Given the description of an element on the screen output the (x, y) to click on. 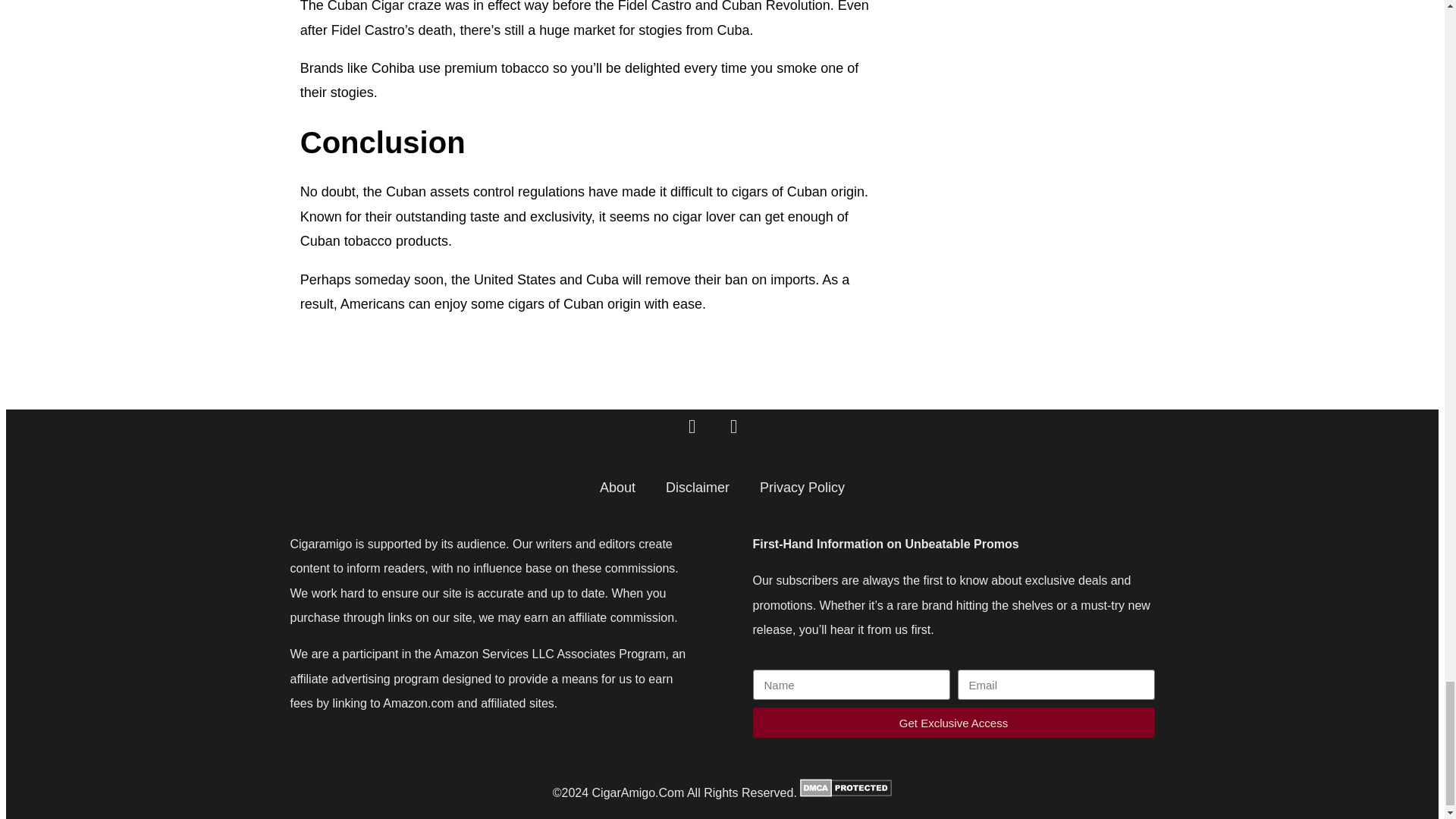
DMCA.com Protection Status (845, 792)
Disclaimer (697, 487)
Get Exclusive Access (953, 722)
About (617, 487)
Privacy Policy (802, 487)
